Given the description of an element on the screen output the (x, y) to click on. 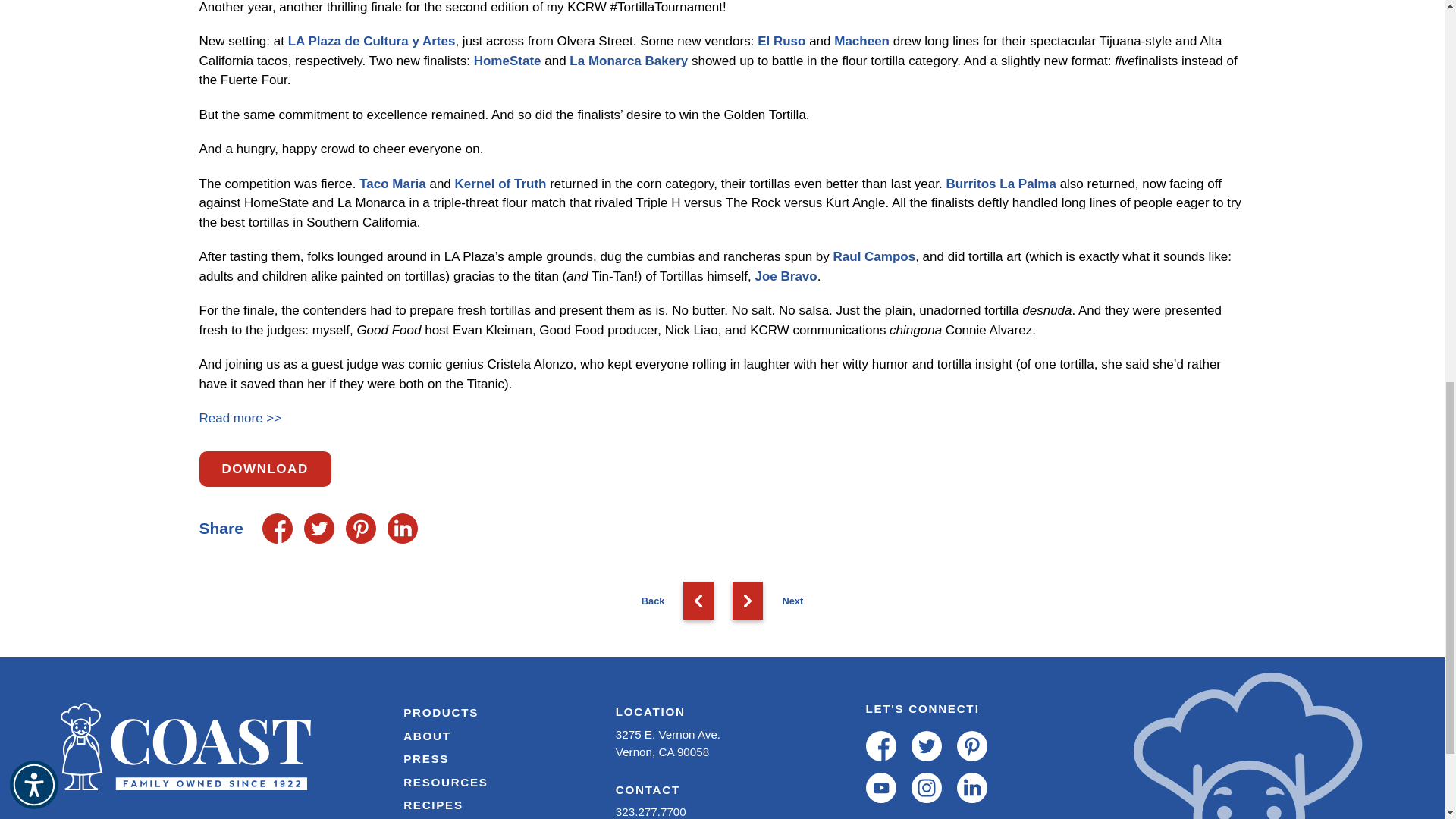
LA Plaza de Cultura y Artes (371, 41)
La Monarca Bakery (628, 60)
Taco Maria (392, 183)
Macheen (861, 41)
HomeState (507, 60)
El Ruso (781, 41)
Kernel of Truth (500, 183)
